Given the description of an element on the screen output the (x, y) to click on. 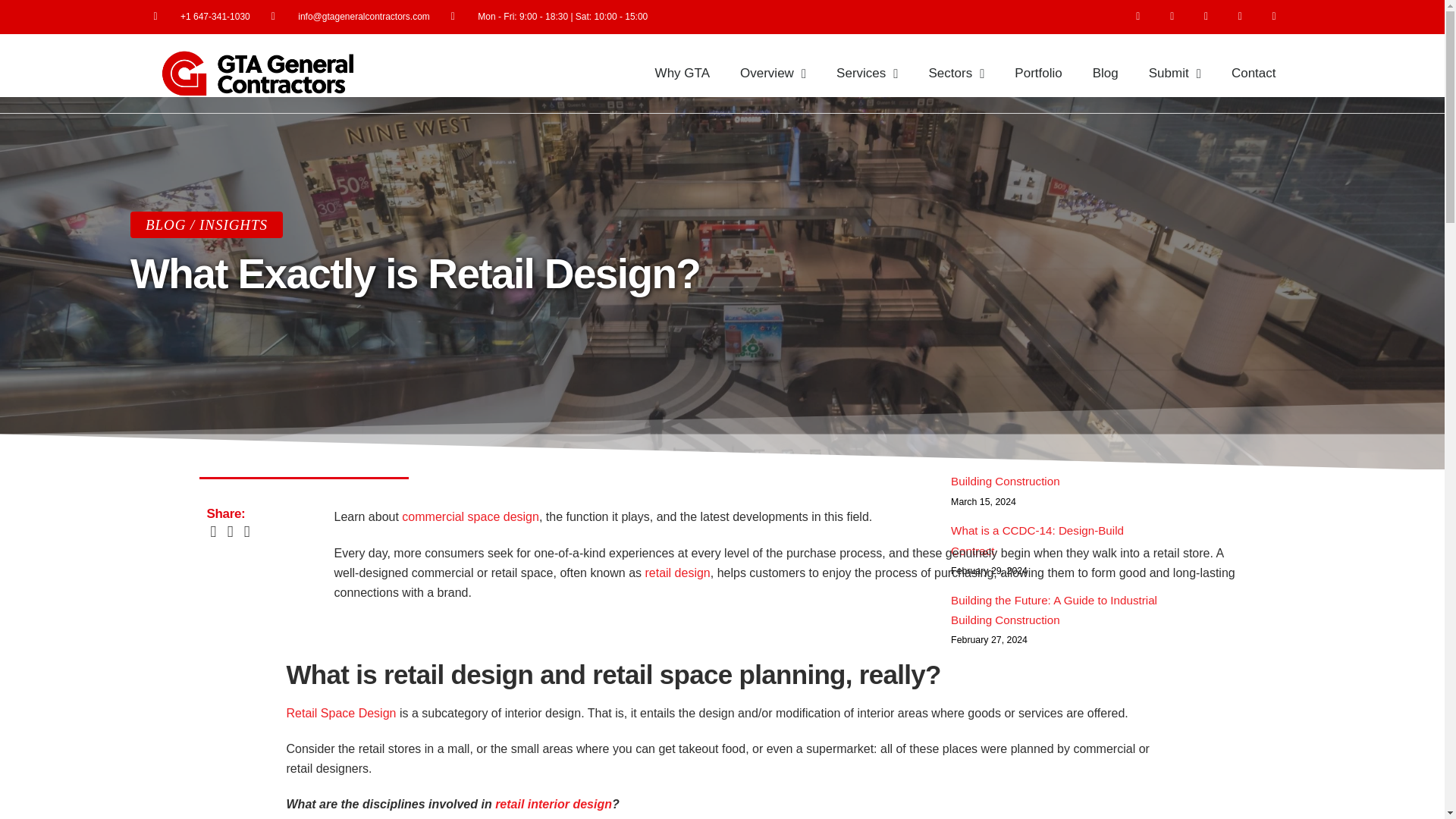
Overview (773, 73)
Services (866, 73)
Portfolio (1037, 73)
Sectors (955, 73)
Why GTA (682, 73)
